Given the description of an element on the screen output the (x, y) to click on. 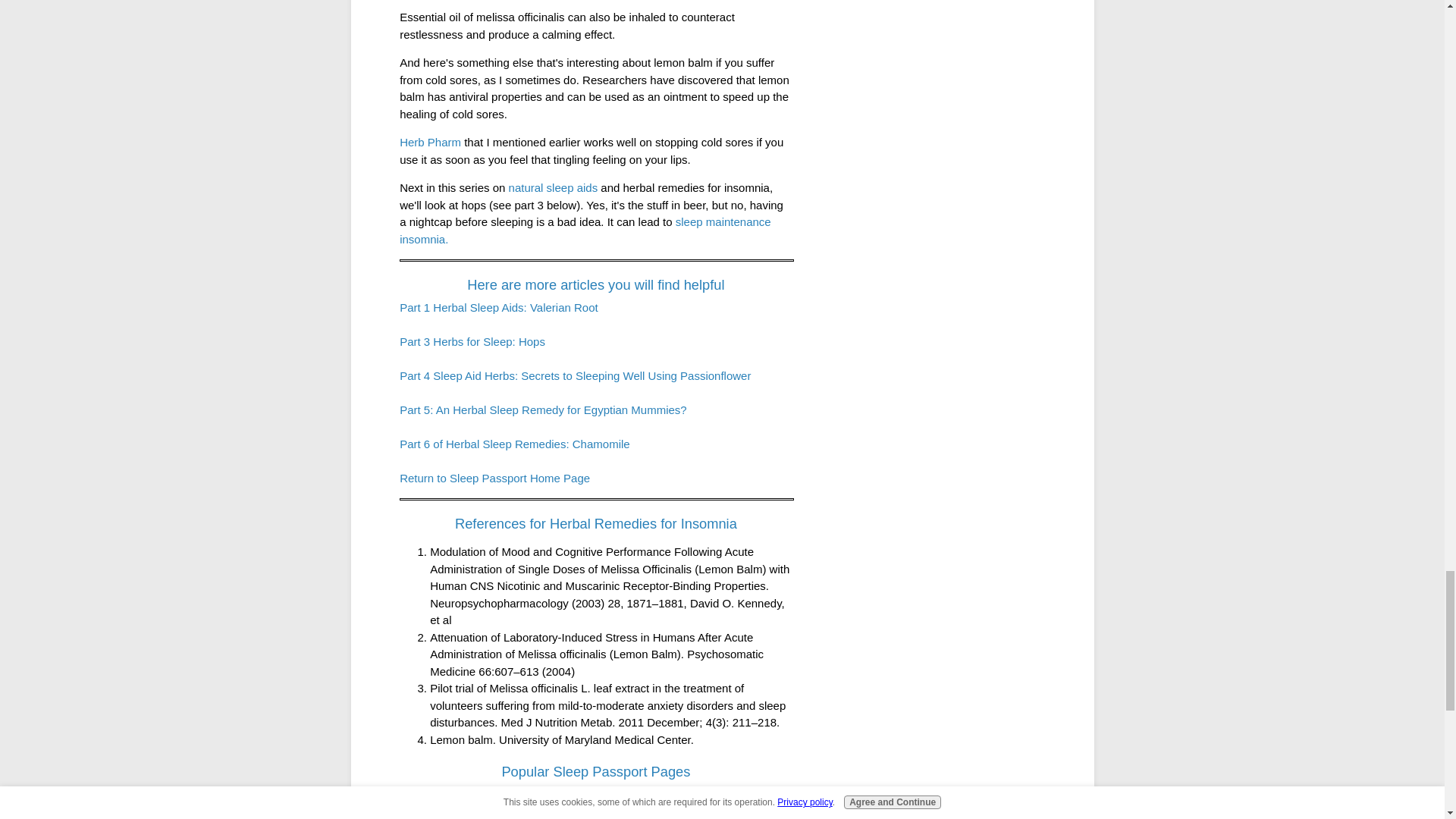
Luxury mattress at a discount price. (726, 807)
